Given the description of an element on the screen output the (x, y) to click on. 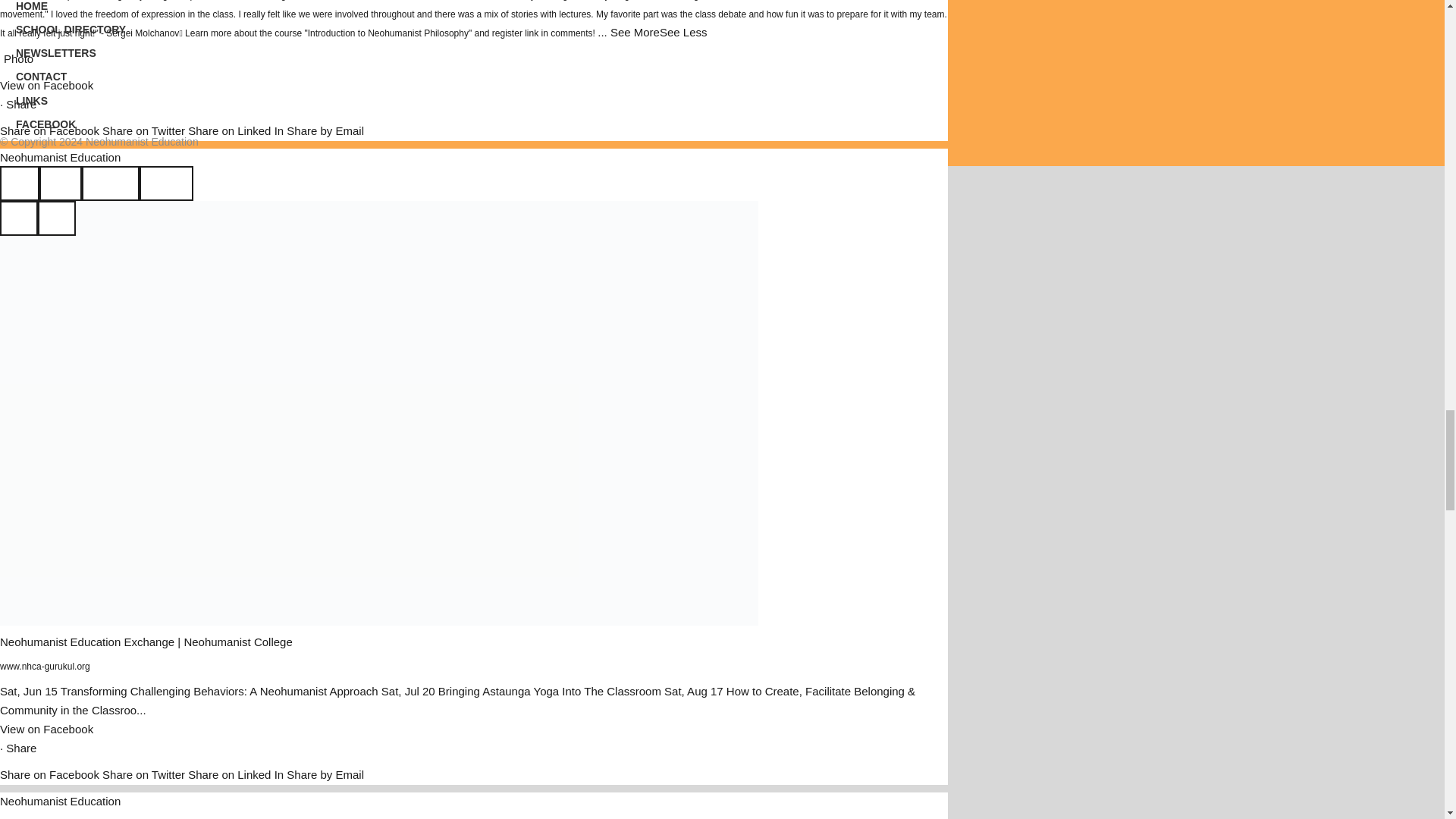
View on Facebook (46, 728)
Share (20, 103)
Share (20, 748)
View on Facebook (46, 84)
